Given the description of an element on the screen output the (x, y) to click on. 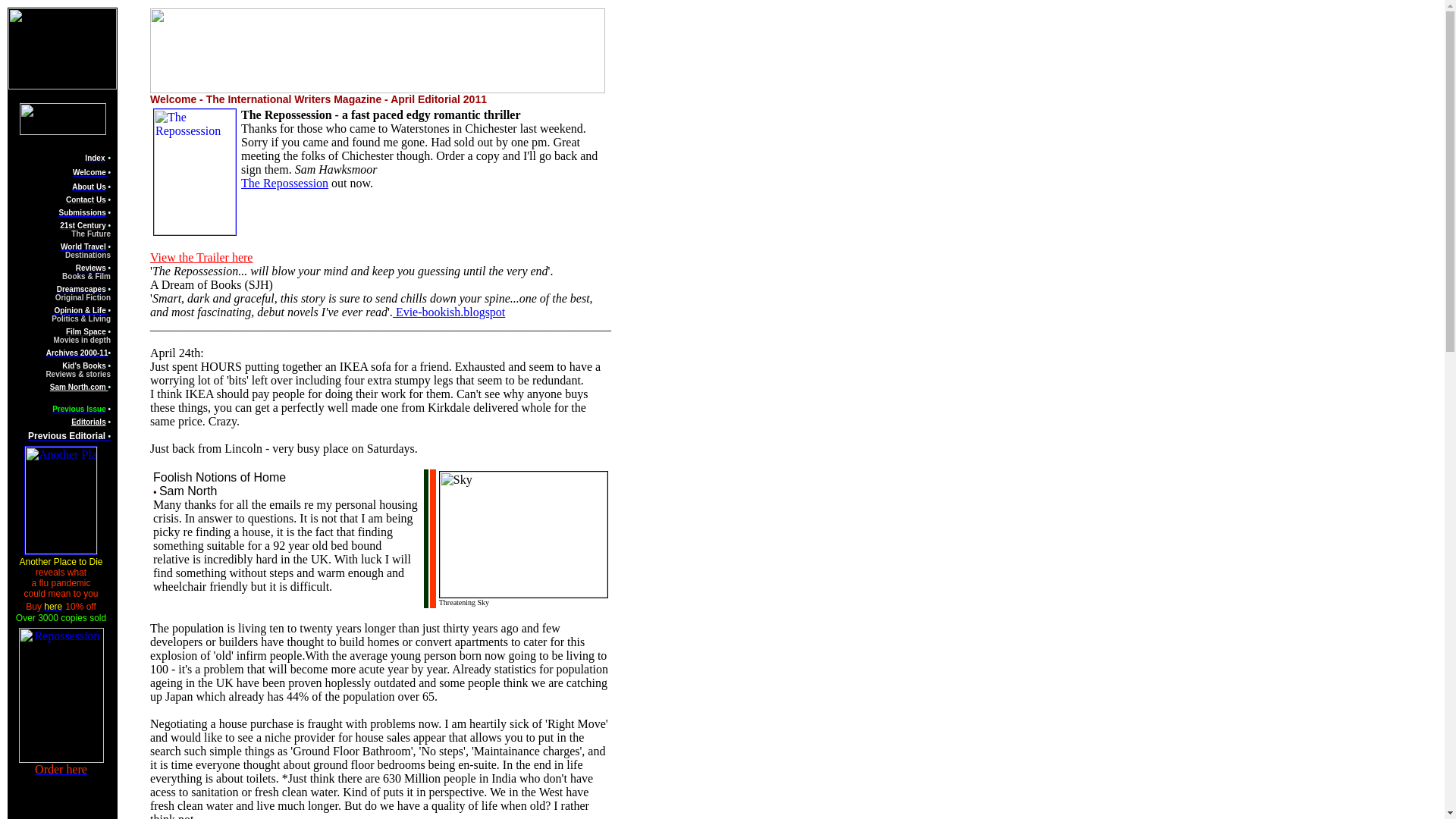
Contact Us (85, 199)
Reviews (90, 267)
Submissions (81, 212)
Order here (60, 768)
21st Century (83, 225)
Archives 2000-11 (76, 352)
About Us (87, 186)
Welcome (89, 172)
World Travel (83, 246)
Kid's Books (84, 365)
Editorials (88, 421)
Previous Issue (79, 408)
View the Trailer here (200, 256)
Dreamscapes (81, 289)
The Repossession (285, 182)
